Given the description of an element on the screen output the (x, y) to click on. 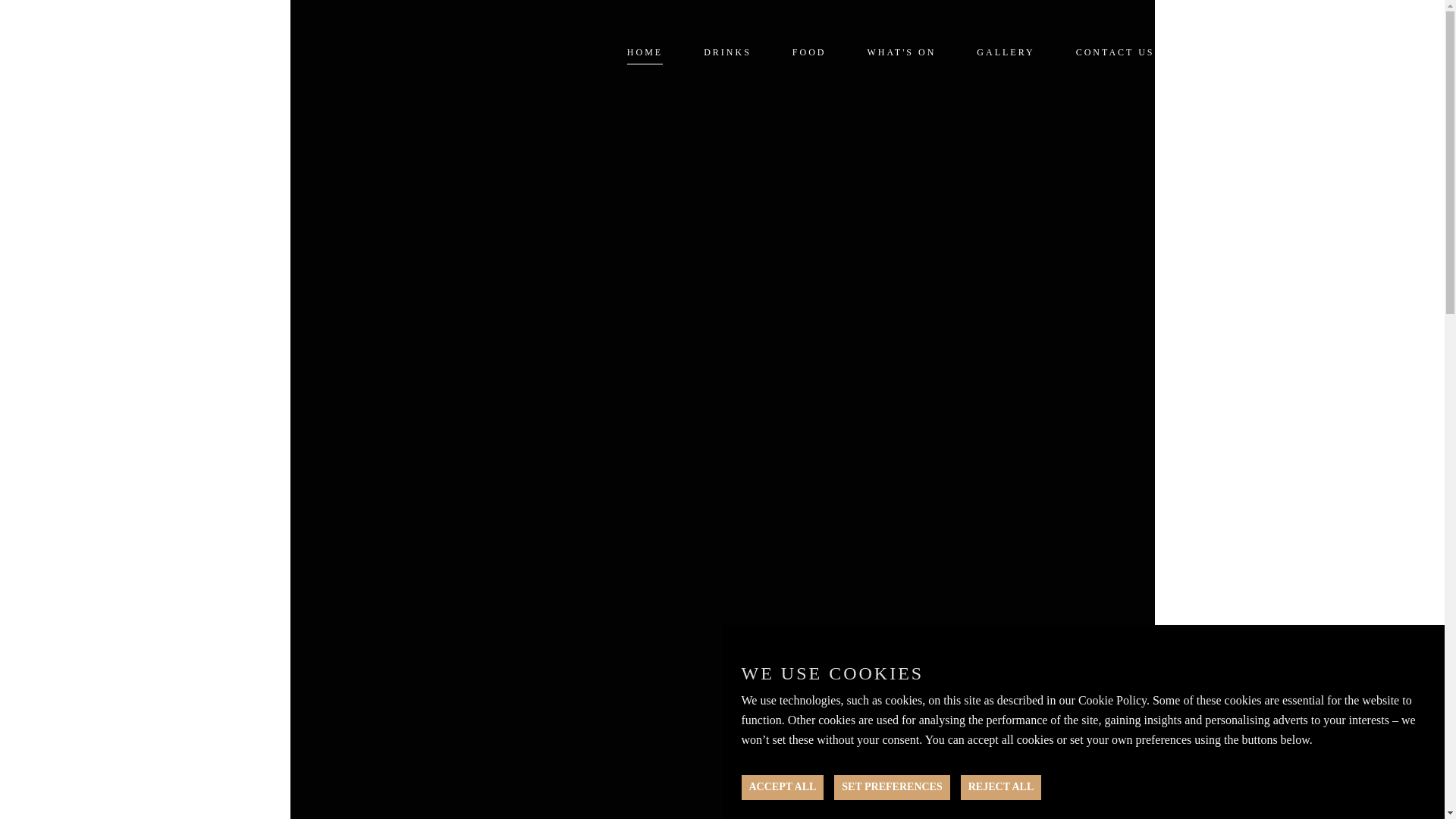
HOME (644, 52)
WHAT'S ON (901, 52)
FOOD (809, 52)
REJECT ALL (1001, 787)
CONTACT US (1114, 52)
SET PREFERENCES (891, 787)
ACCEPT ALL (782, 787)
DRINKS (727, 52)
GALLERY (1004, 52)
